Given the description of an element on the screen output the (x, y) to click on. 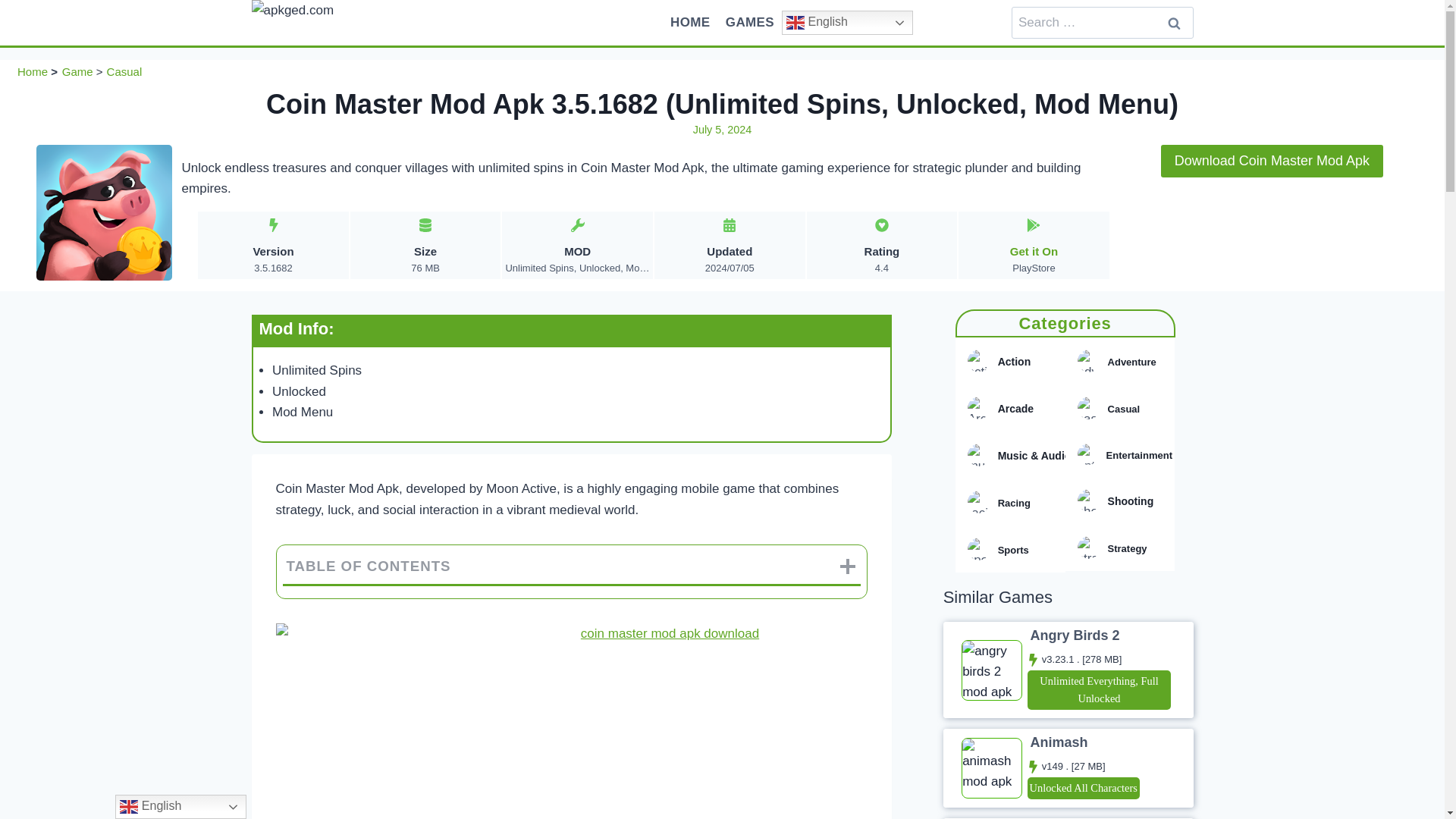
Search (1174, 22)
TABLE OF CONTENTS (571, 566)
English (846, 22)
Game (77, 71)
HOME (689, 22)
Casual (124, 72)
Home (32, 71)
Search (1033, 245)
GAMES (1174, 22)
